Given the description of an element on the screen output the (x, y) to click on. 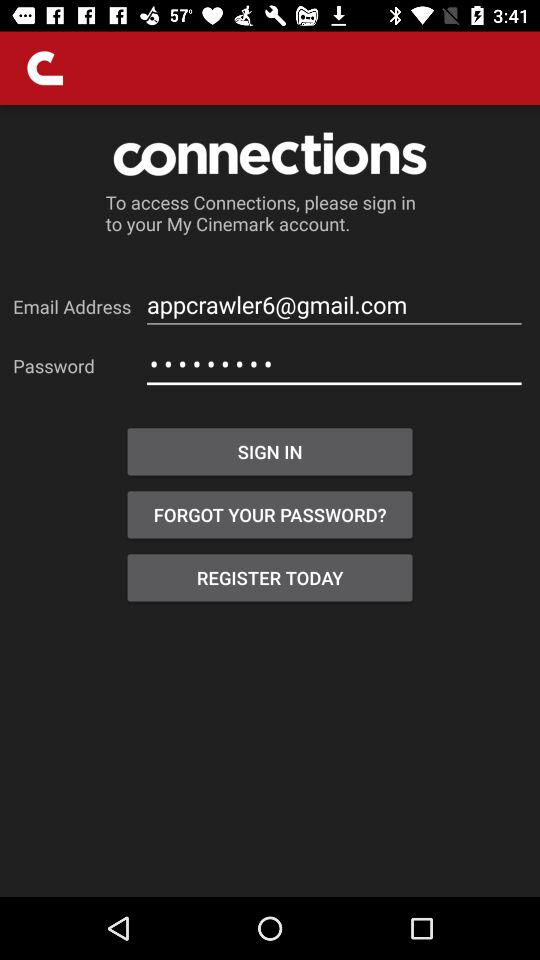
tap icon below forgot your password? item (269, 577)
